Given the description of an element on the screen output the (x, y) to click on. 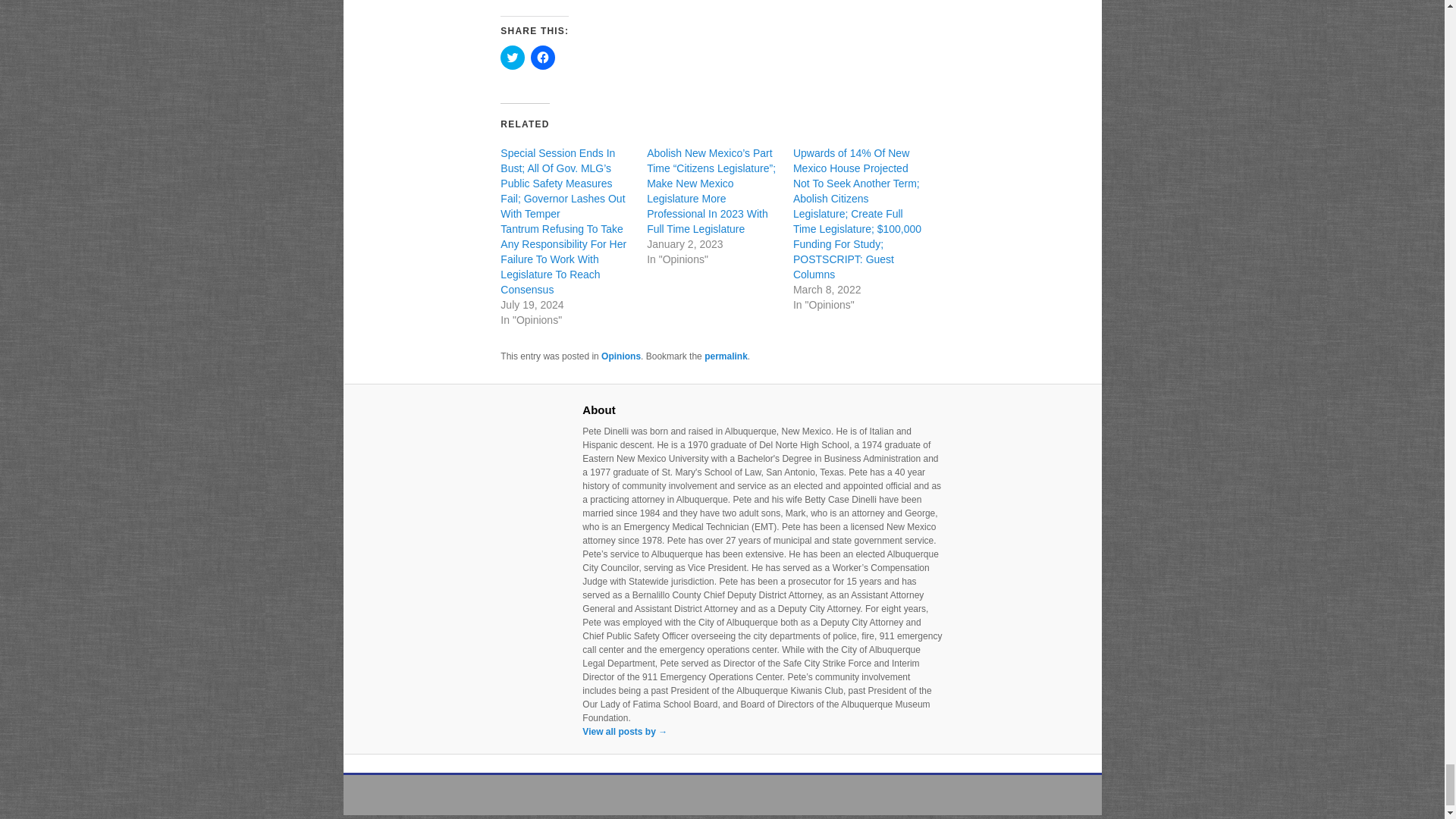
Click to share on Facebook (542, 57)
Click to share on Twitter (512, 57)
Opinions (620, 356)
permalink (726, 356)
